Given the description of an element on the screen output the (x, y) to click on. 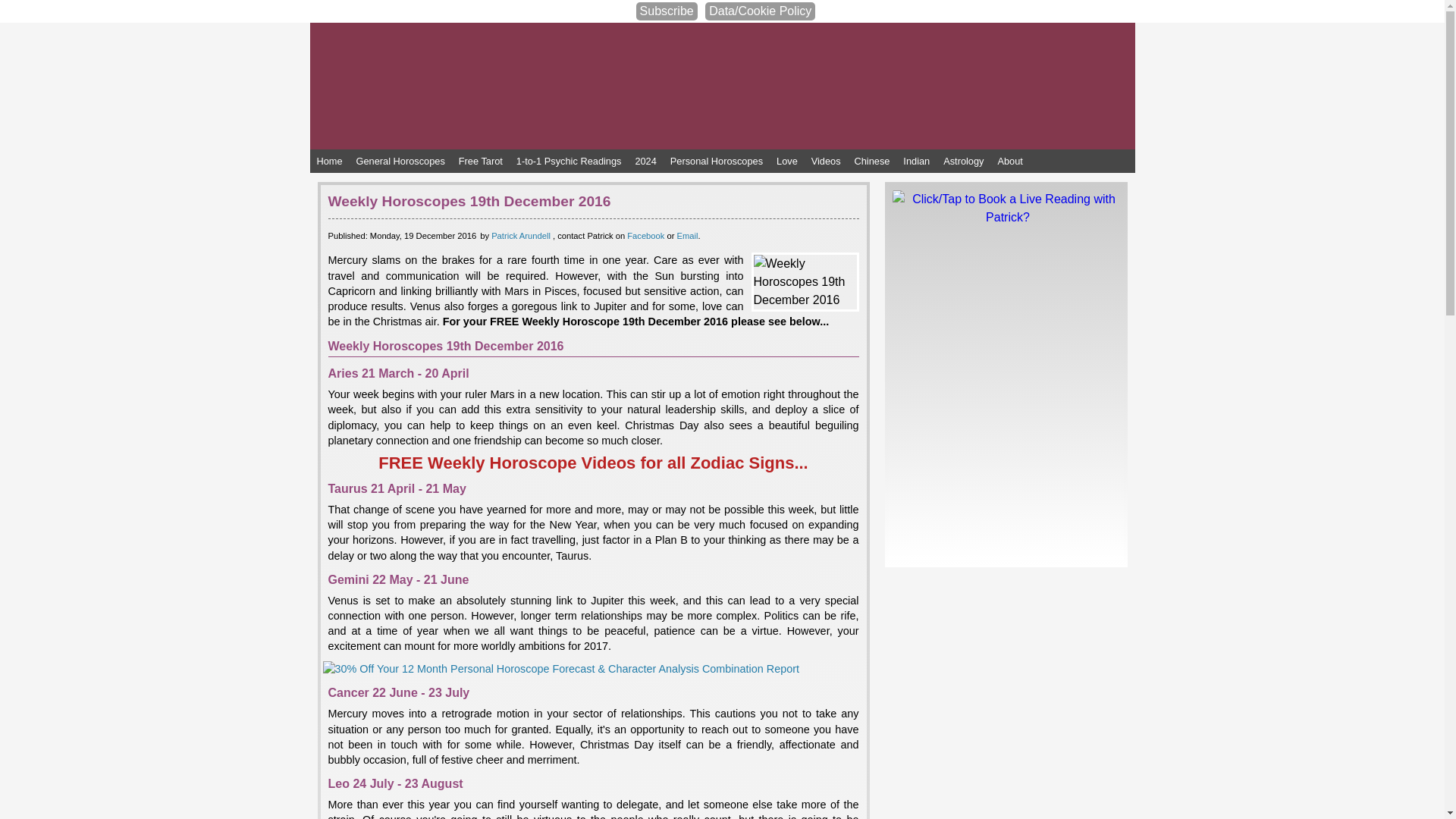
Subscribe (666, 11)
FREE Astrology Insights (593, 462)
1-to-1 Psychic Readings (568, 160)
General Horoscopes (400, 160)
Contact Patrick (687, 235)
Click here to Sign Up for my Email Horoscope (666, 11)
Free Tarot (480, 160)
Weekly Horoscopes 19th December 2016 (805, 282)
Facebook (645, 235)
Home (328, 160)
